Given the description of an element on the screen output the (x, y) to click on. 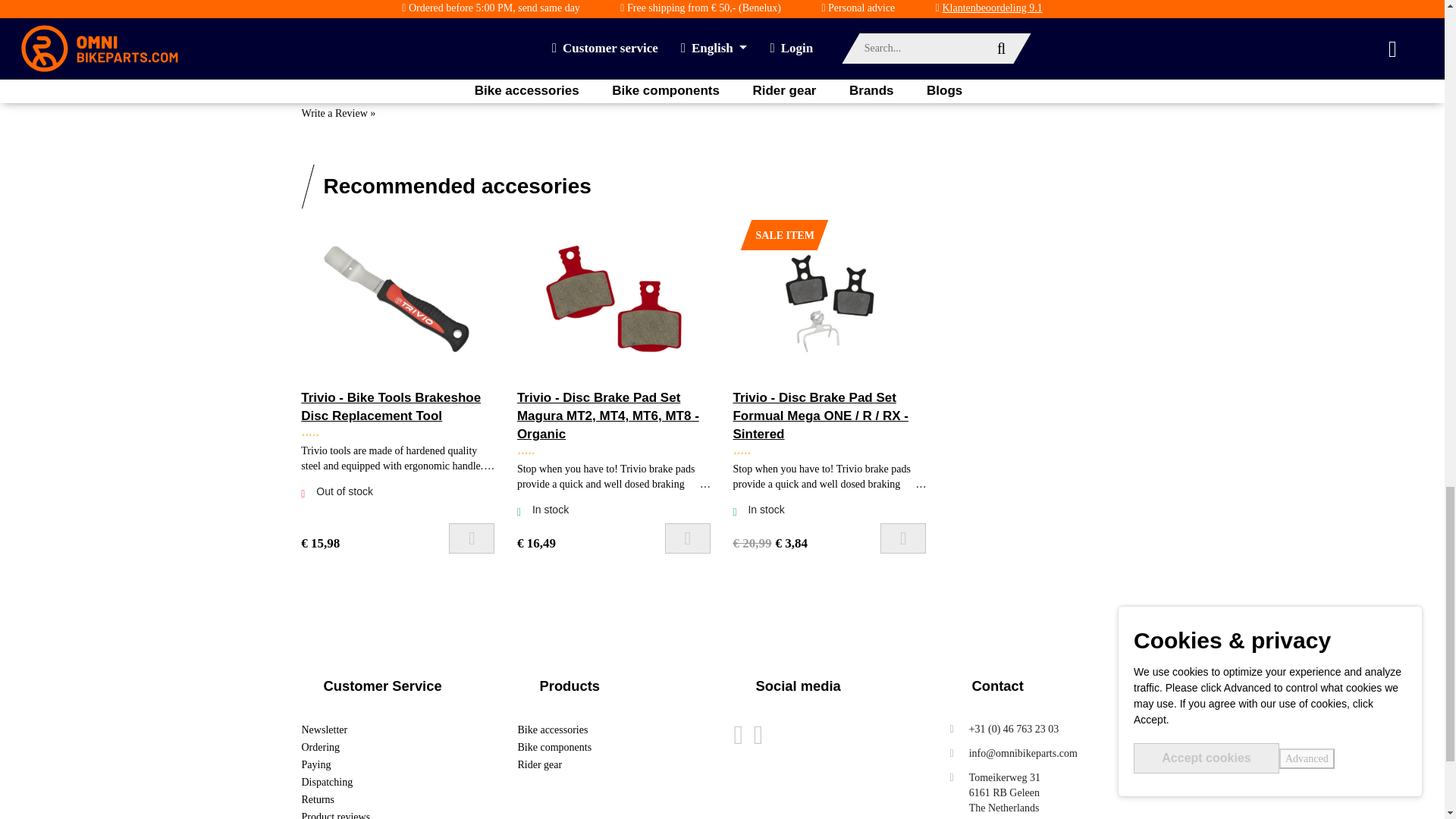
Recieve an e-mail as soon as this product is in stock (471, 538)
